Given the description of an element on the screen output the (x, y) to click on. 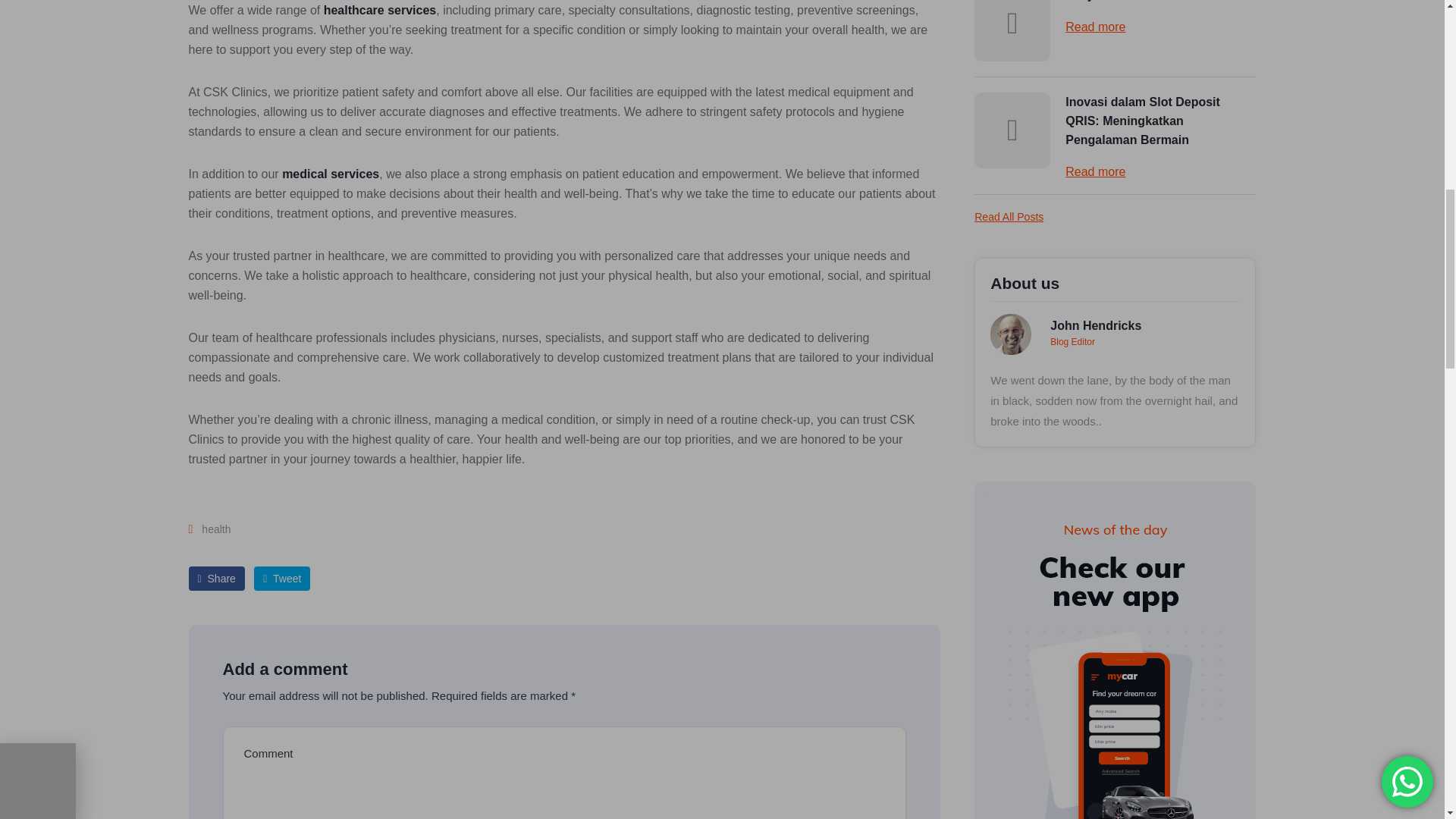
medical services (330, 173)
Share (215, 578)
healthcare services (379, 10)
health (218, 529)
Tweet (281, 578)
